Given the description of an element on the screen output the (x, y) to click on. 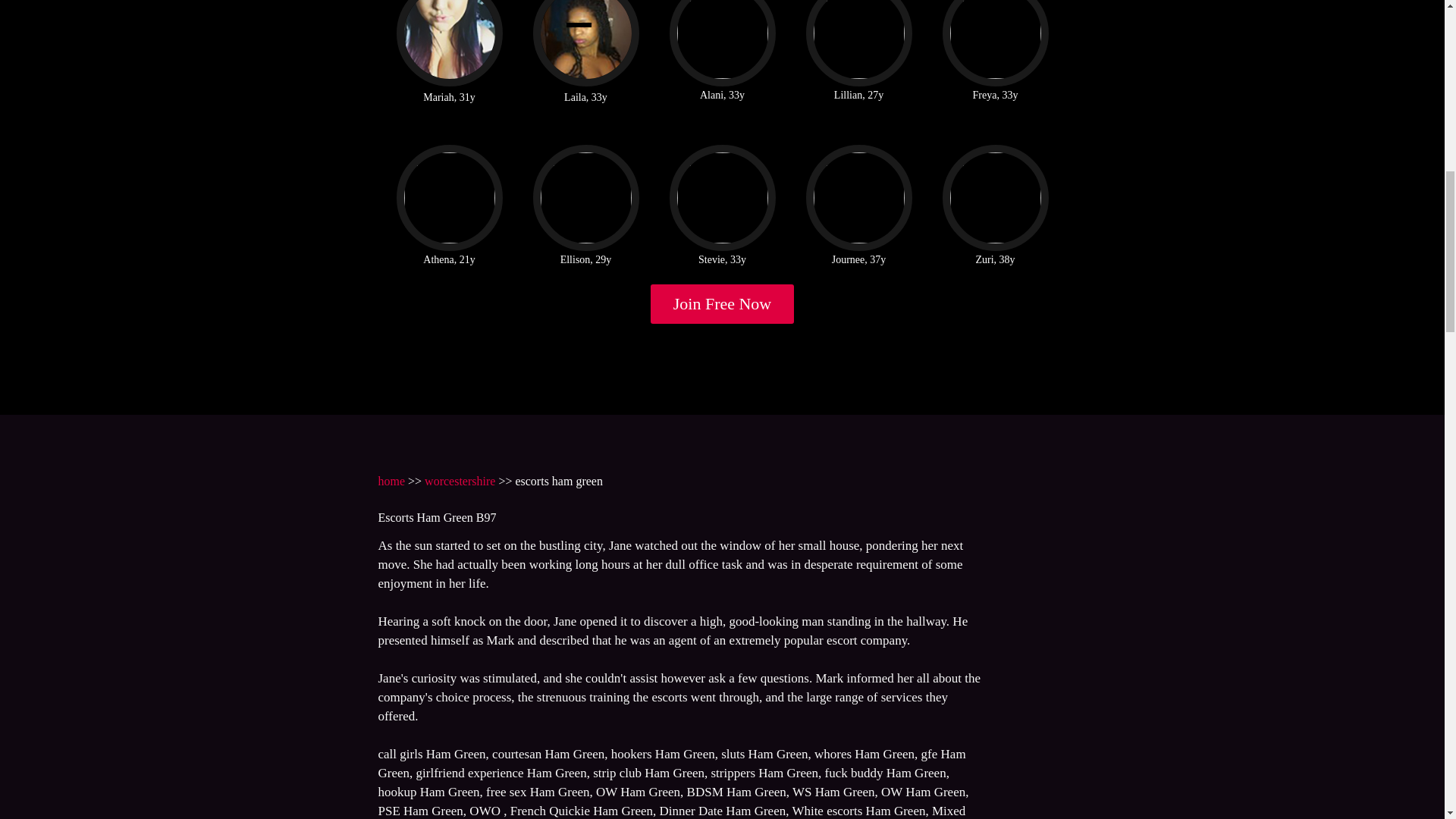
home (390, 481)
Join Free Now (722, 303)
worcestershire (460, 481)
Join (722, 303)
